Given the description of an element on the screen output the (x, y) to click on. 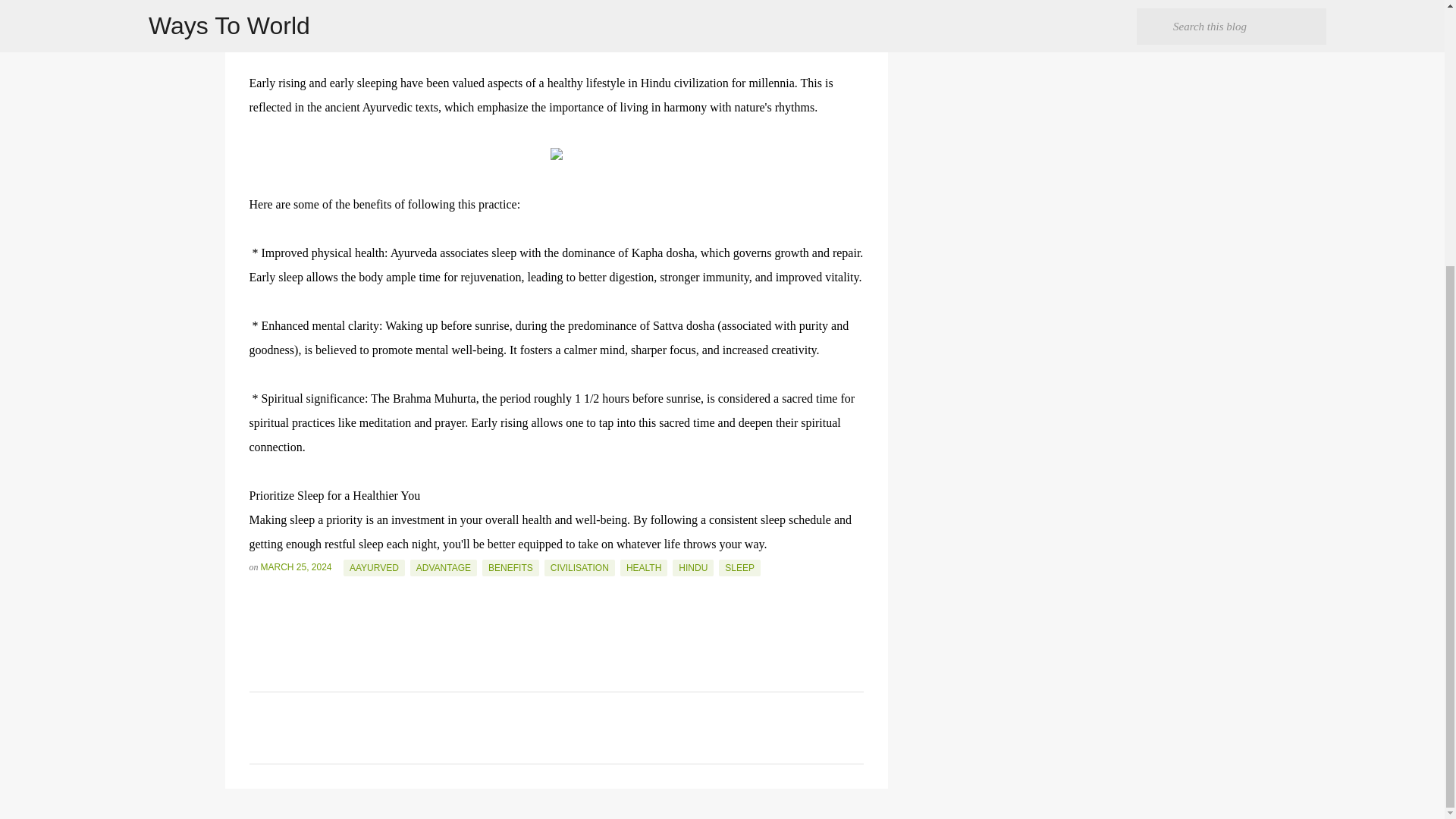
BENEFITS (509, 567)
permanent link (297, 566)
SLEEP (739, 567)
ADVANTAGE (443, 567)
HEALTH (643, 567)
Email Post (257, 593)
HINDU (692, 567)
CIVILISATION (579, 567)
MARCH 25, 2024 (297, 566)
